Given the description of an element on the screen output the (x, y) to click on. 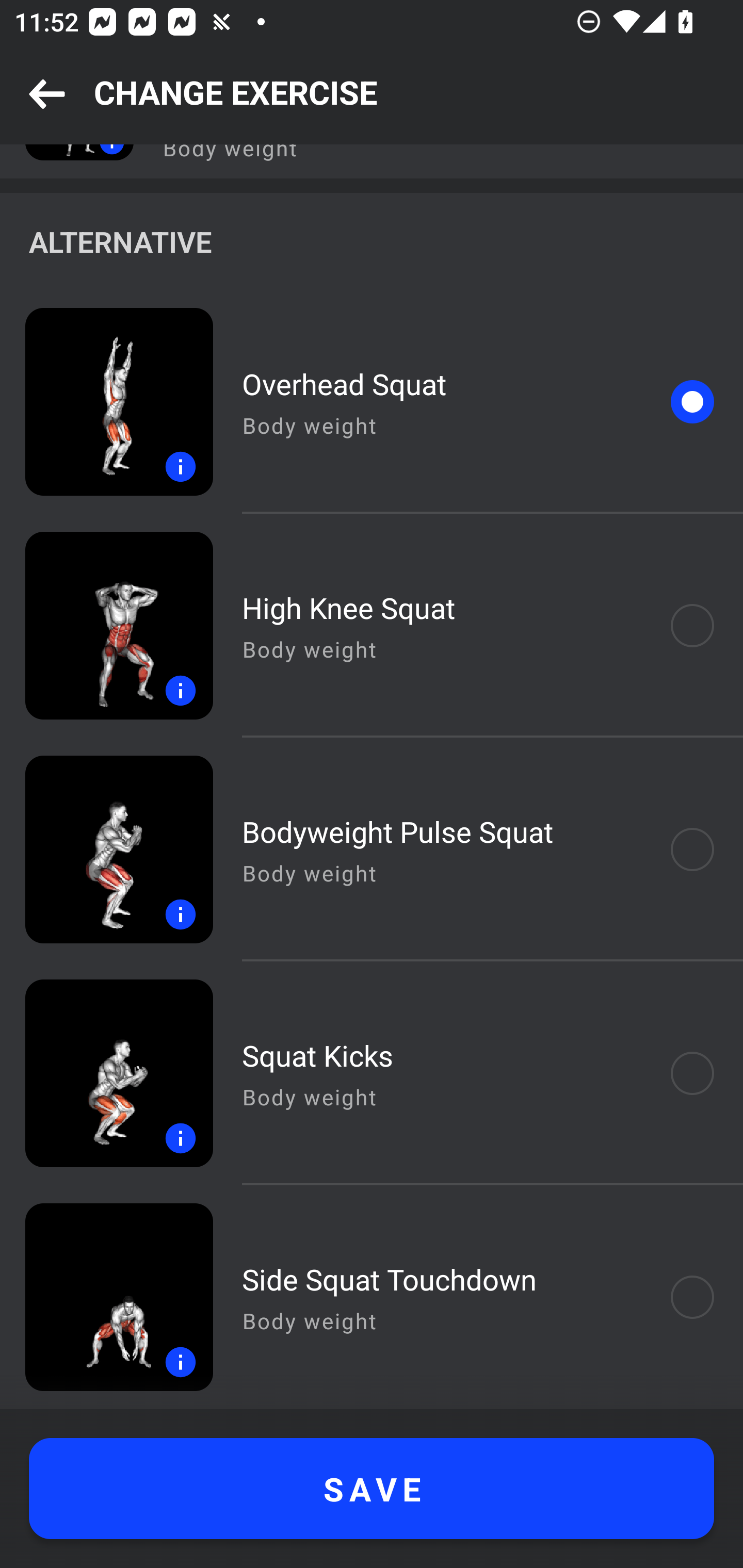
Navigation icon (46, 94)
details Overhead Squat Body weight (371, 402)
details (106, 402)
details High Knee Squat Body weight (371, 625)
details (106, 625)
details Bodyweight Pulse Squat Body weight (371, 848)
details (106, 848)
details Squat Kicks Body weight (371, 1073)
details (106, 1073)
details Side Squat Touchdown Body weight (371, 1297)
details (106, 1297)
SAVE (371, 1488)
